Given the description of an element on the screen output the (x, y) to click on. 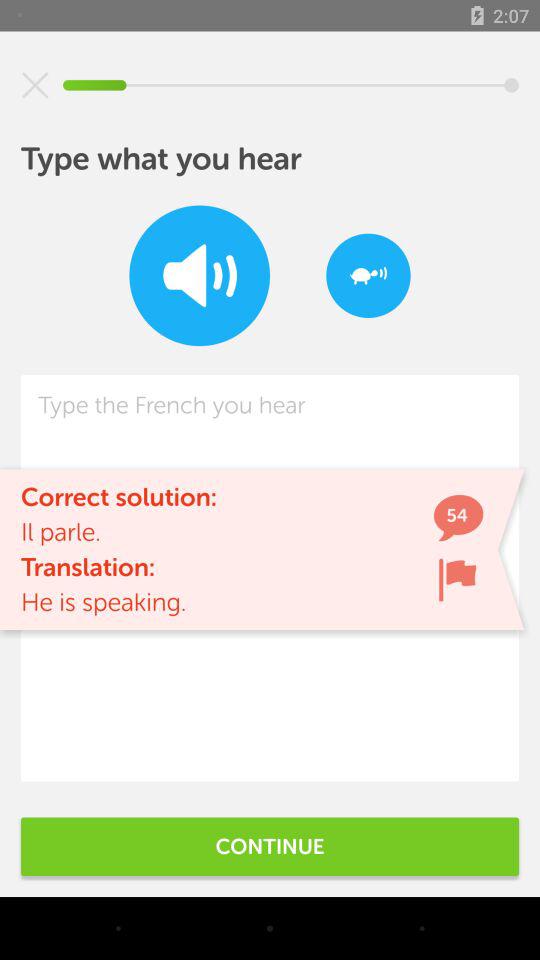
select icon above type what you icon (35, 85)
